Given the description of an element on the screen output the (x, y) to click on. 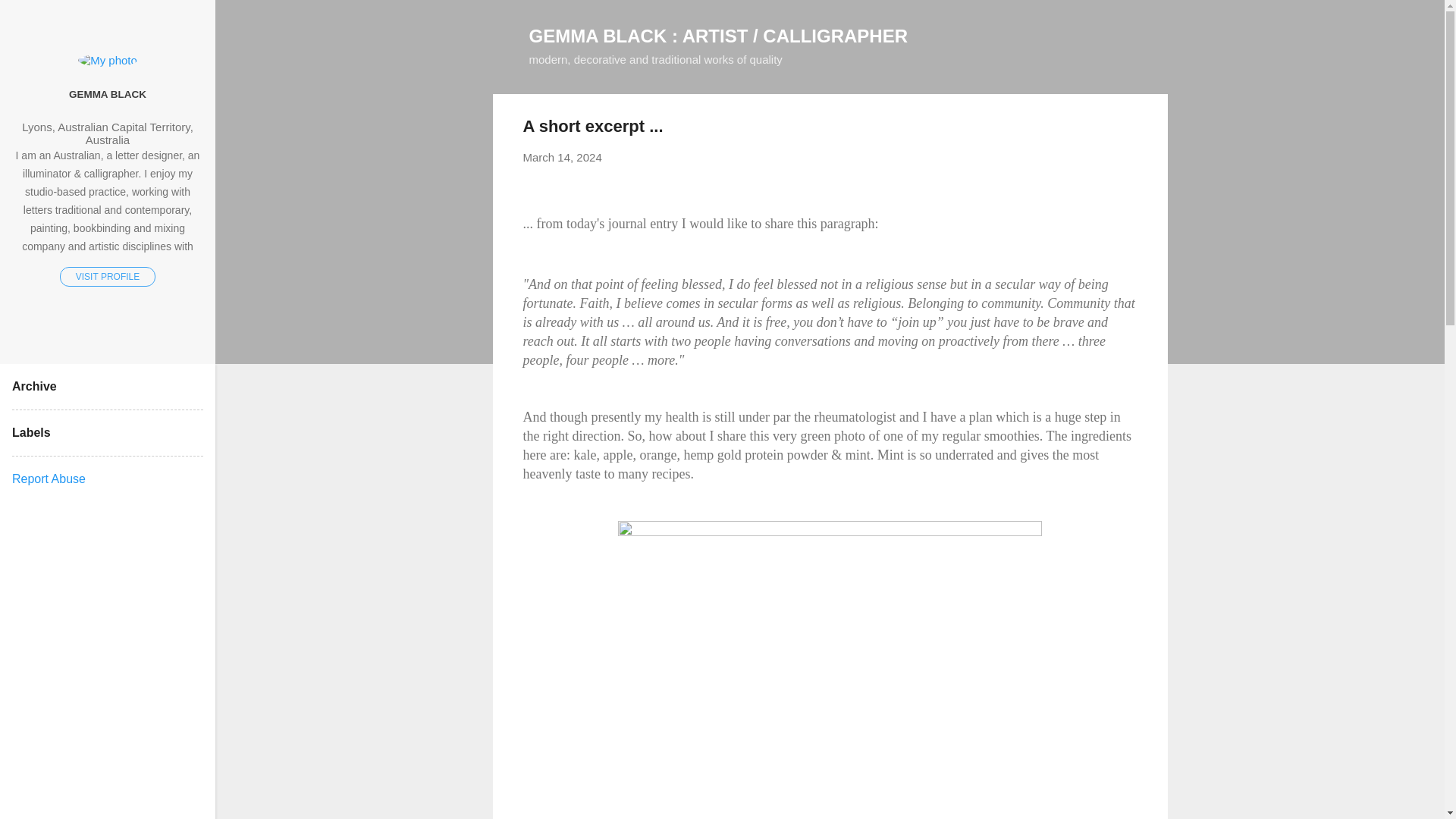
permanent link (562, 156)
VISIT PROFILE (107, 276)
Search (29, 18)
GEMMA BLACK (107, 93)
March 14, 2024 (562, 156)
